Given the description of an element on the screen output the (x, y) to click on. 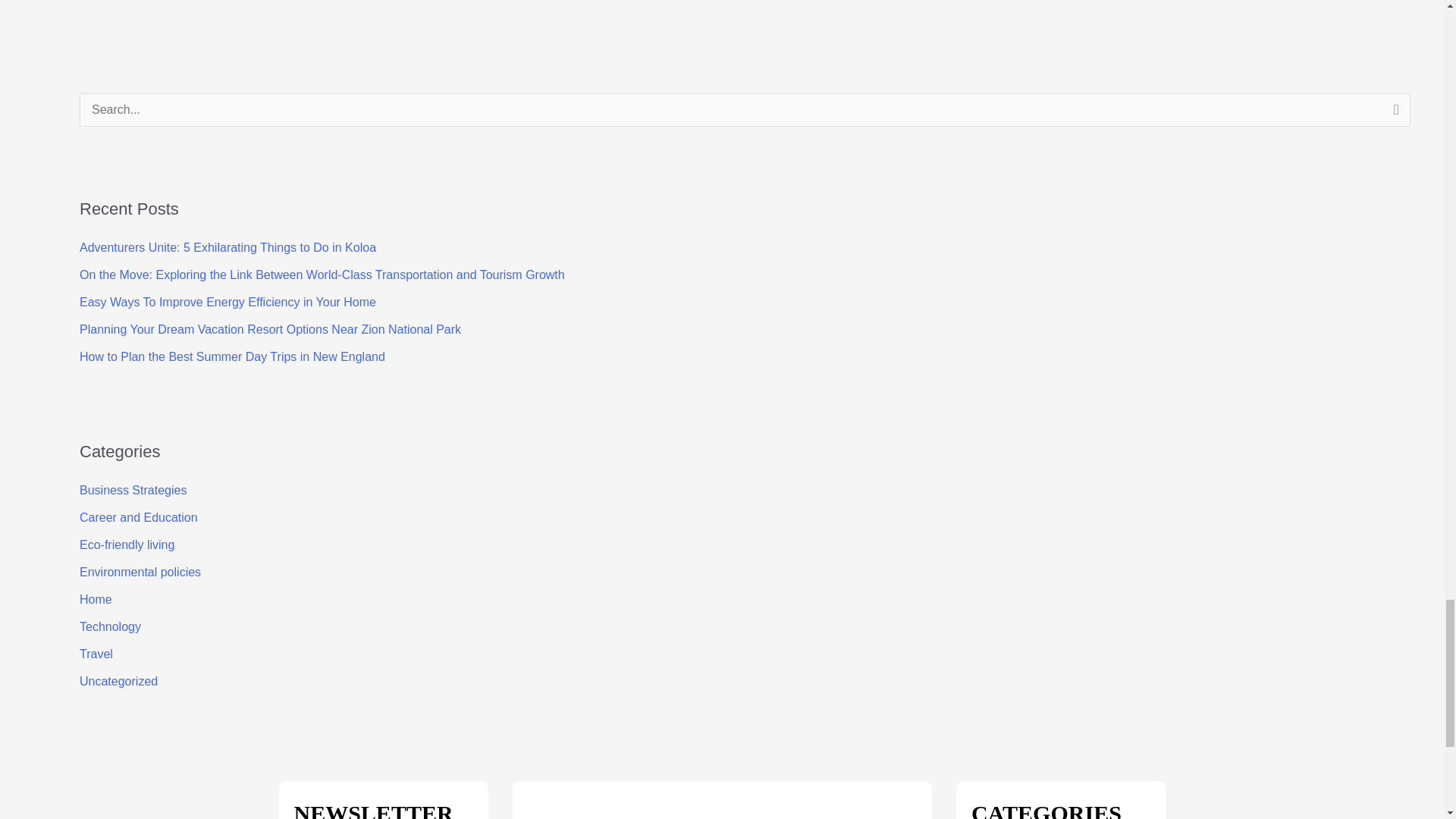
Uncategorized (118, 680)
How to Plan the Best Summer Day Trips in New England (232, 356)
Environmental policies (140, 571)
Eco-friendly living (127, 544)
Home (96, 599)
Easy Ways To Improve Energy Efficiency in Your Home (227, 301)
Career and Education (139, 517)
Technology (110, 626)
Adventurers Unite: 5 Exhilarating Things to Do in Koloa (227, 246)
Travel (96, 653)
Business Strategies (133, 490)
